Given the description of an element on the screen output the (x, y) to click on. 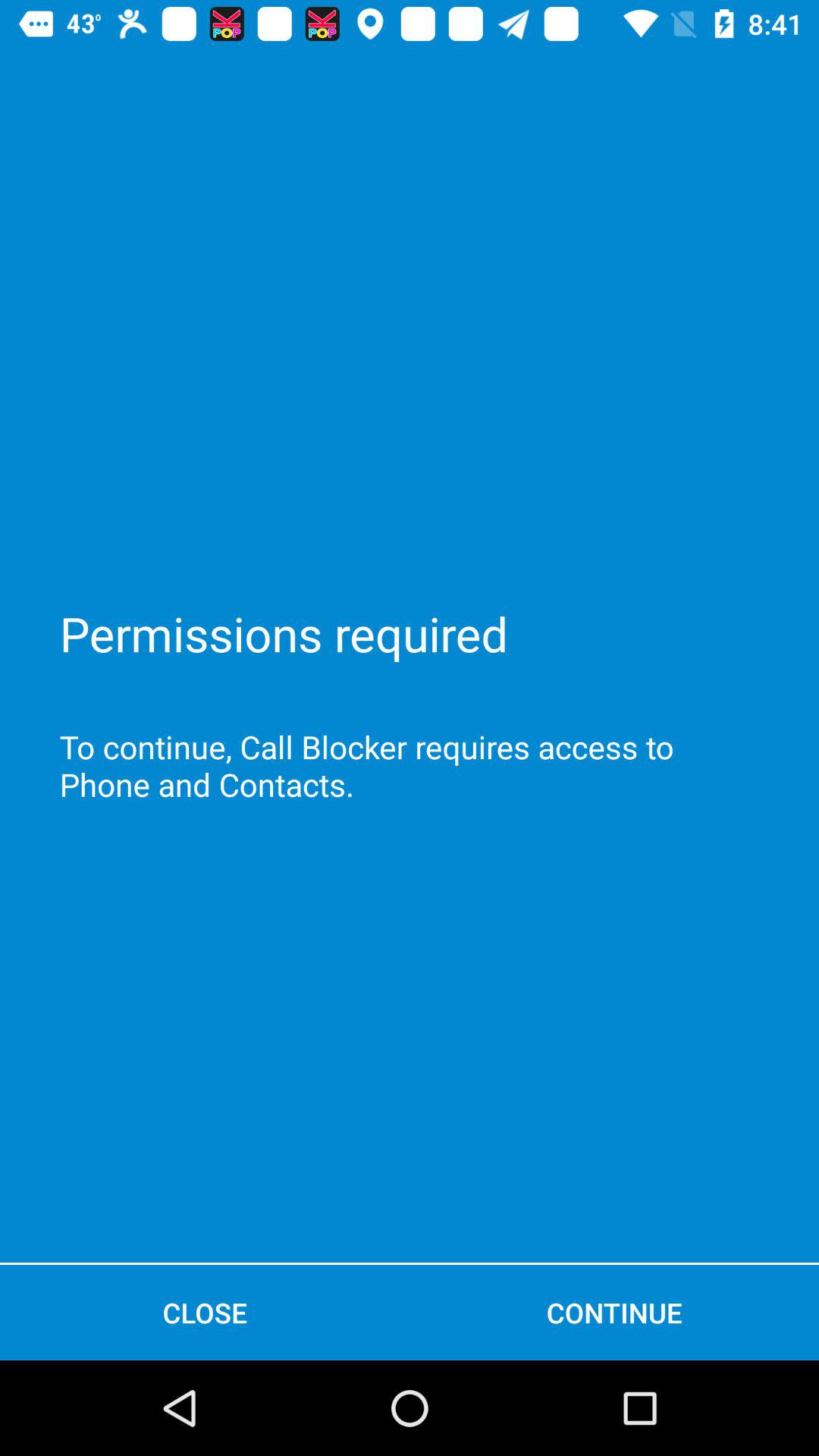
tap close (204, 1312)
